Given the description of an element on the screen output the (x, y) to click on. 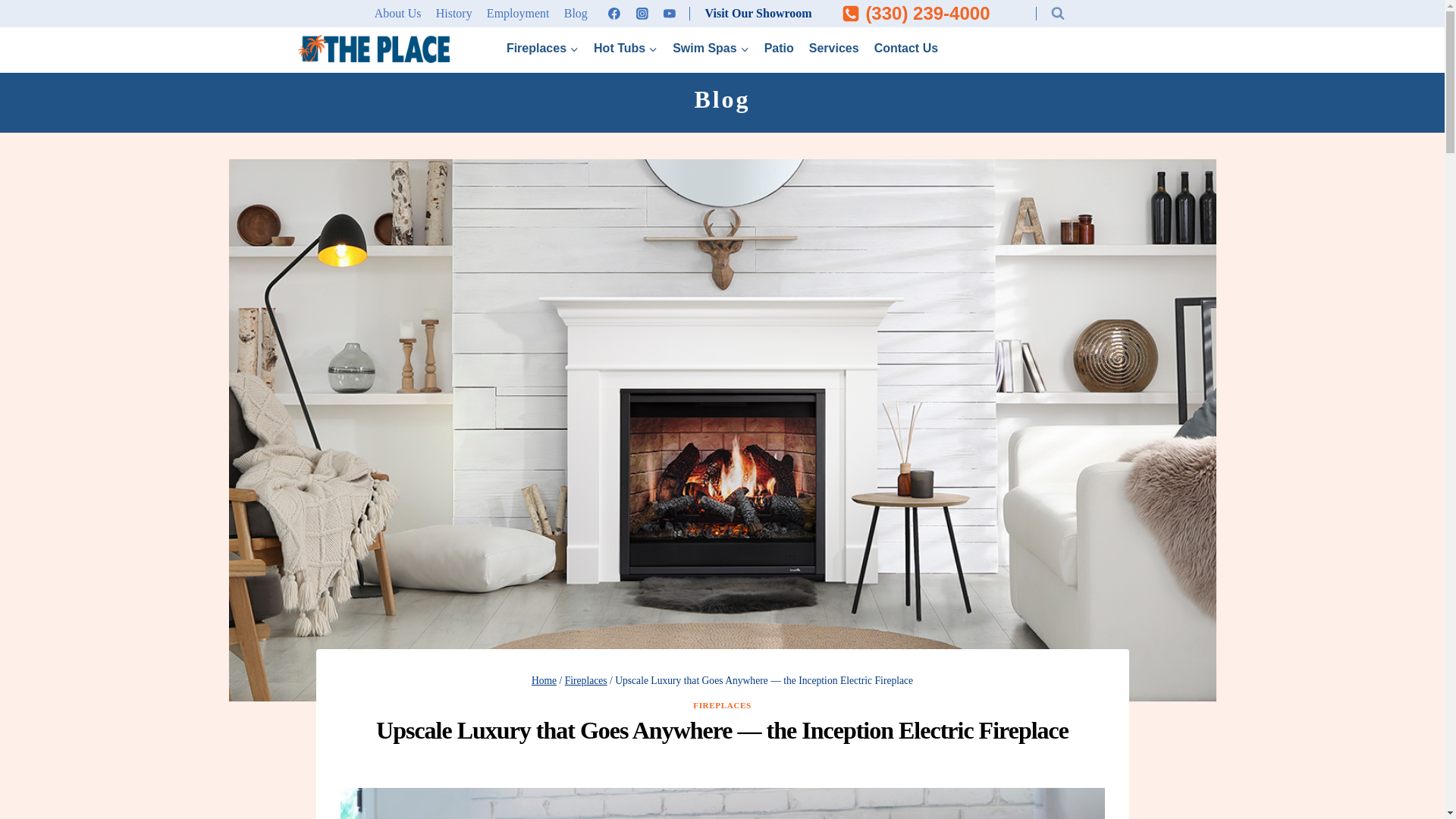
Services (834, 48)
Patio (779, 48)
Hot Tubs (625, 48)
Visit Our Showroom (757, 13)
Blog (575, 13)
About Us (397, 13)
History (453, 13)
Swim Spas (710, 48)
Fireplaces (542, 48)
Employment (517, 13)
